Given the description of an element on the screen output the (x, y) to click on. 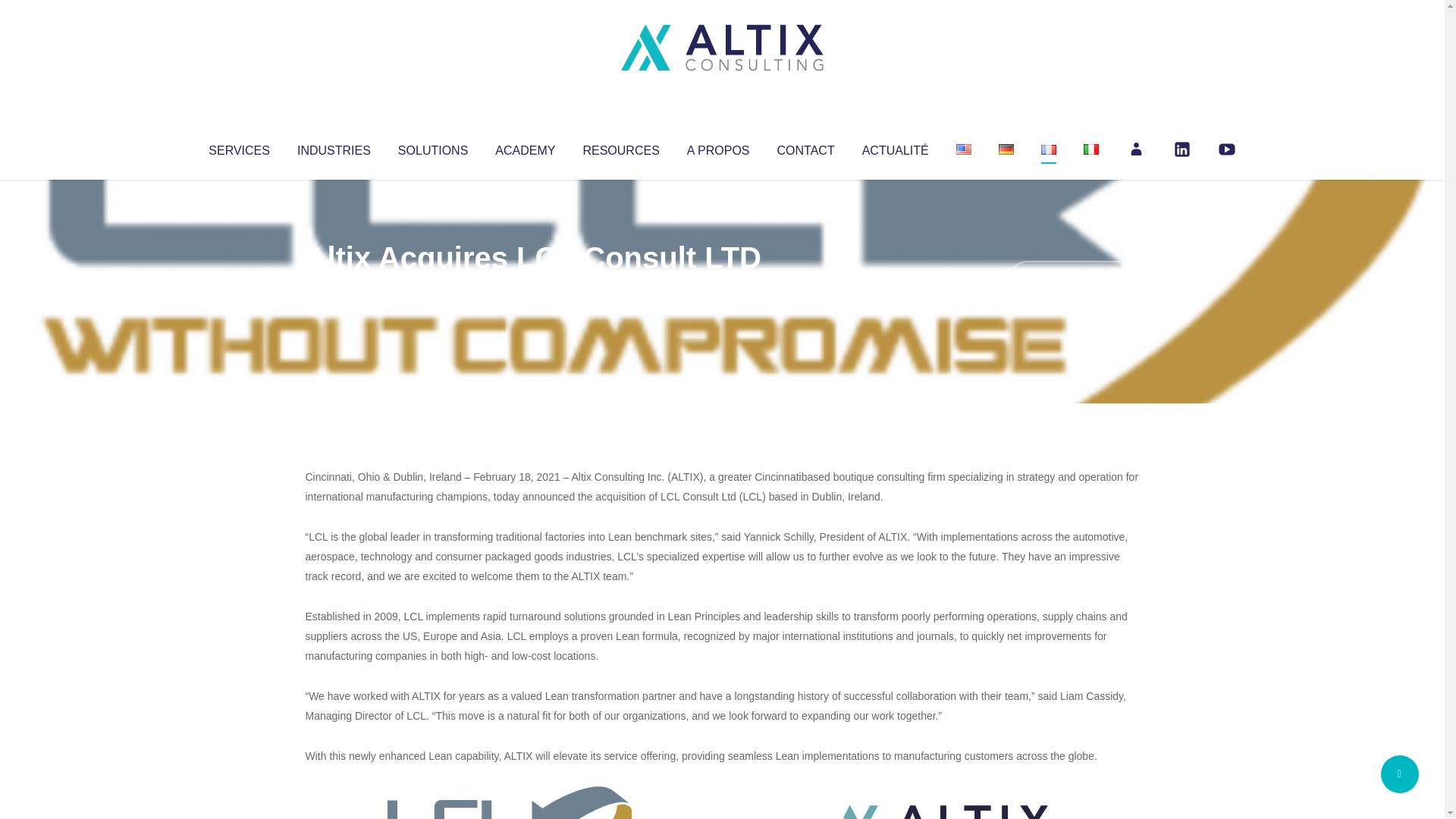
INDUSTRIES (334, 146)
Altix (333, 287)
ACADEMY (524, 146)
RESOURCES (620, 146)
SERVICES (238, 146)
SOLUTIONS (432, 146)
Uncategorized (530, 287)
No Comments (1073, 278)
A PROPOS (718, 146)
Articles par Altix (333, 287)
